Given the description of an element on the screen output the (x, y) to click on. 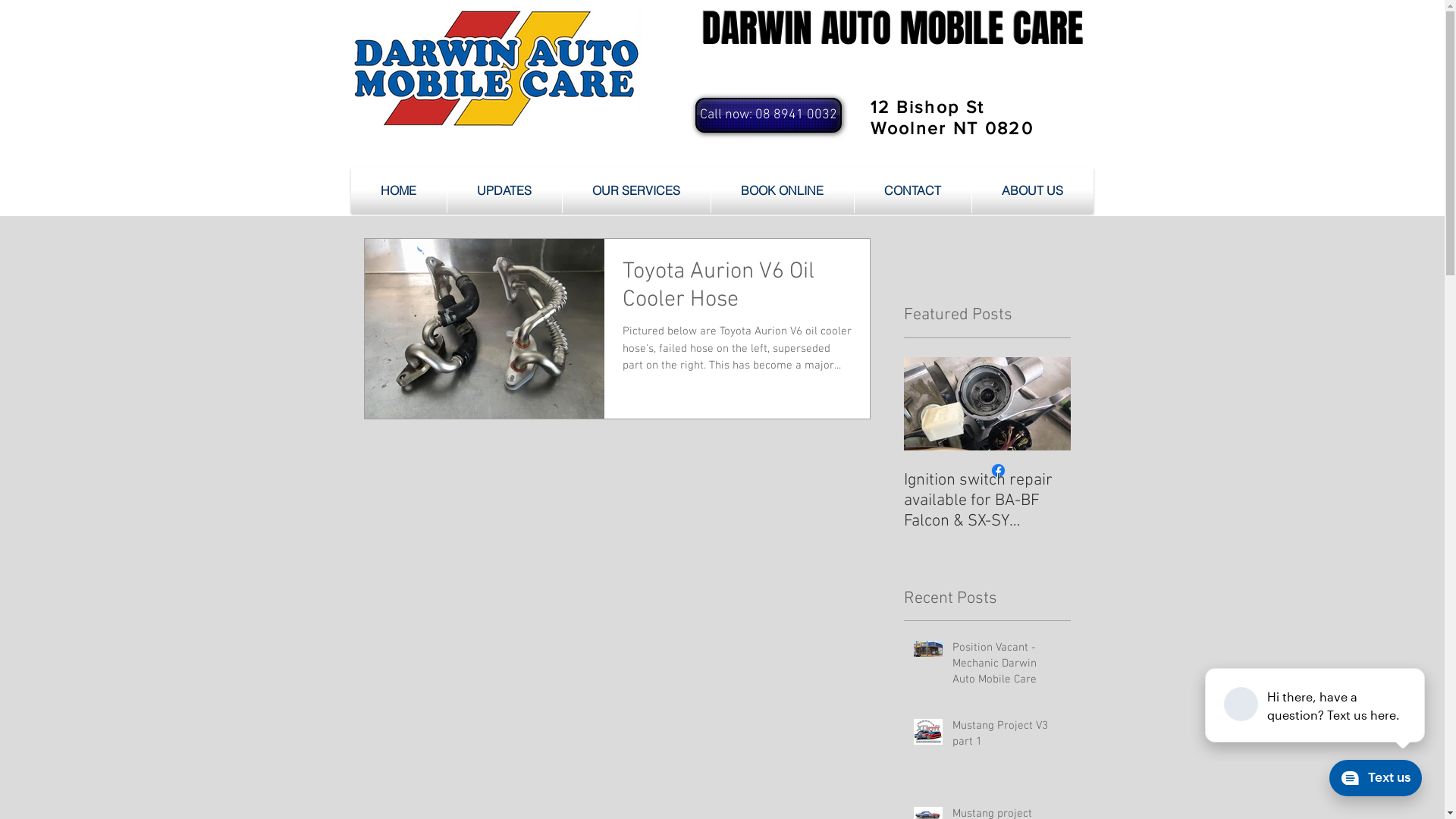
UPDATES Element type: text (504, 190)
podium webchat widget prompt Element type: hover (1315, 705)
OUR SERVICES Element type: text (636, 190)
DARWIN AUTO MOBILE CARE Element type: text (892, 28)
BOOK ONLINE Element type: text (782, 190)
Mustang Project V3 part 1 Element type: text (1006, 737)
ABOUT US Element type: text (1032, 190)
CONTACT Element type: text (911, 190)
HOME Element type: text (397, 190)
Position Vacant - Mechanic Darwin Auto Mobile Care Element type: text (1006, 666)
Call now: 08 8941 0032 Element type: text (767, 114)
Toyota Aurion V6 Oil Cooler Hose Element type: text (735, 290)
Darwin Mechanic Element type: hover (495, 67)
